Given the description of an element on the screen output the (x, y) to click on. 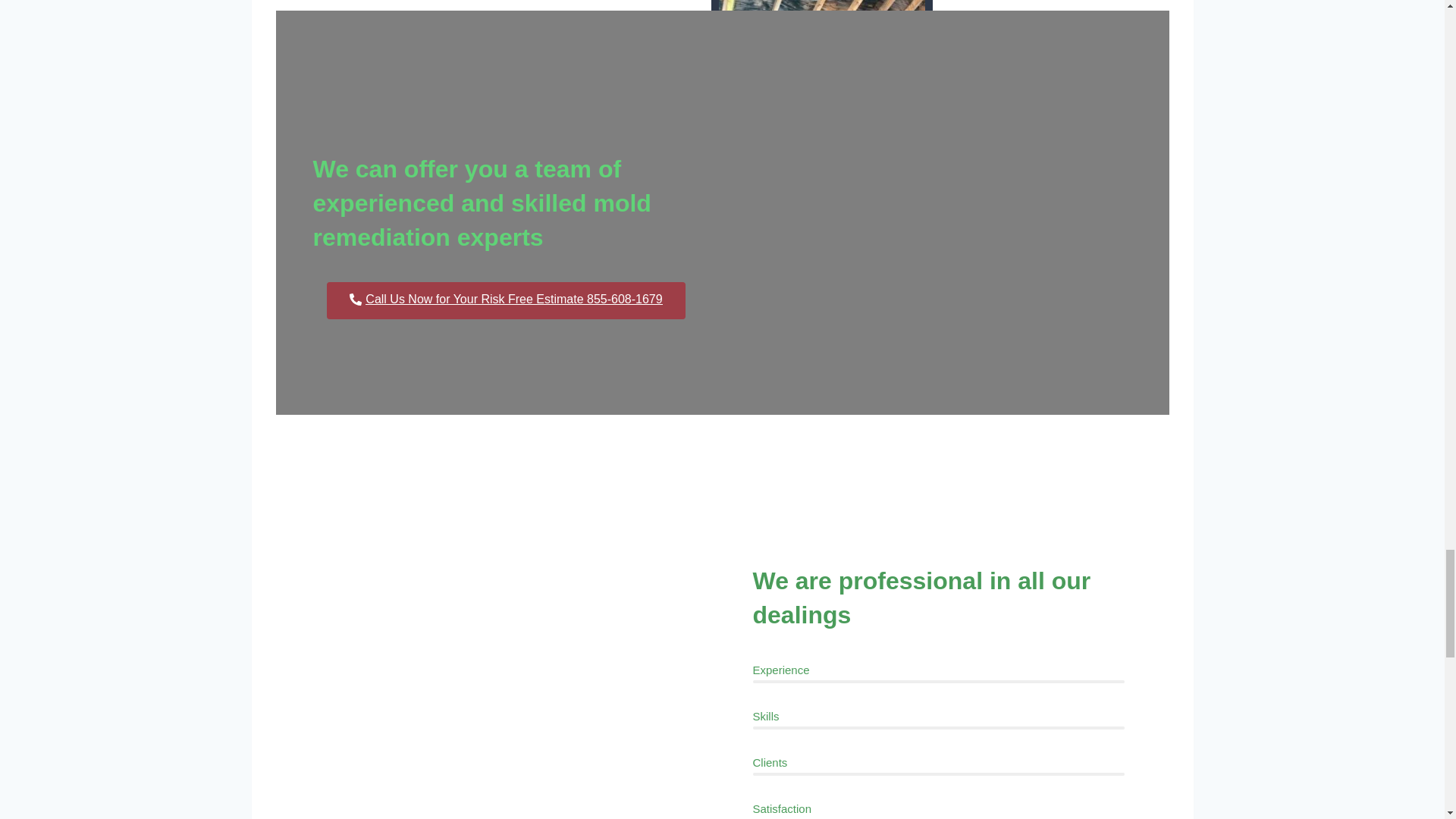
Call Us Now for Your Risk Free Estimate 855-608-1679 (505, 300)
